Given the description of an element on the screen output the (x, y) to click on. 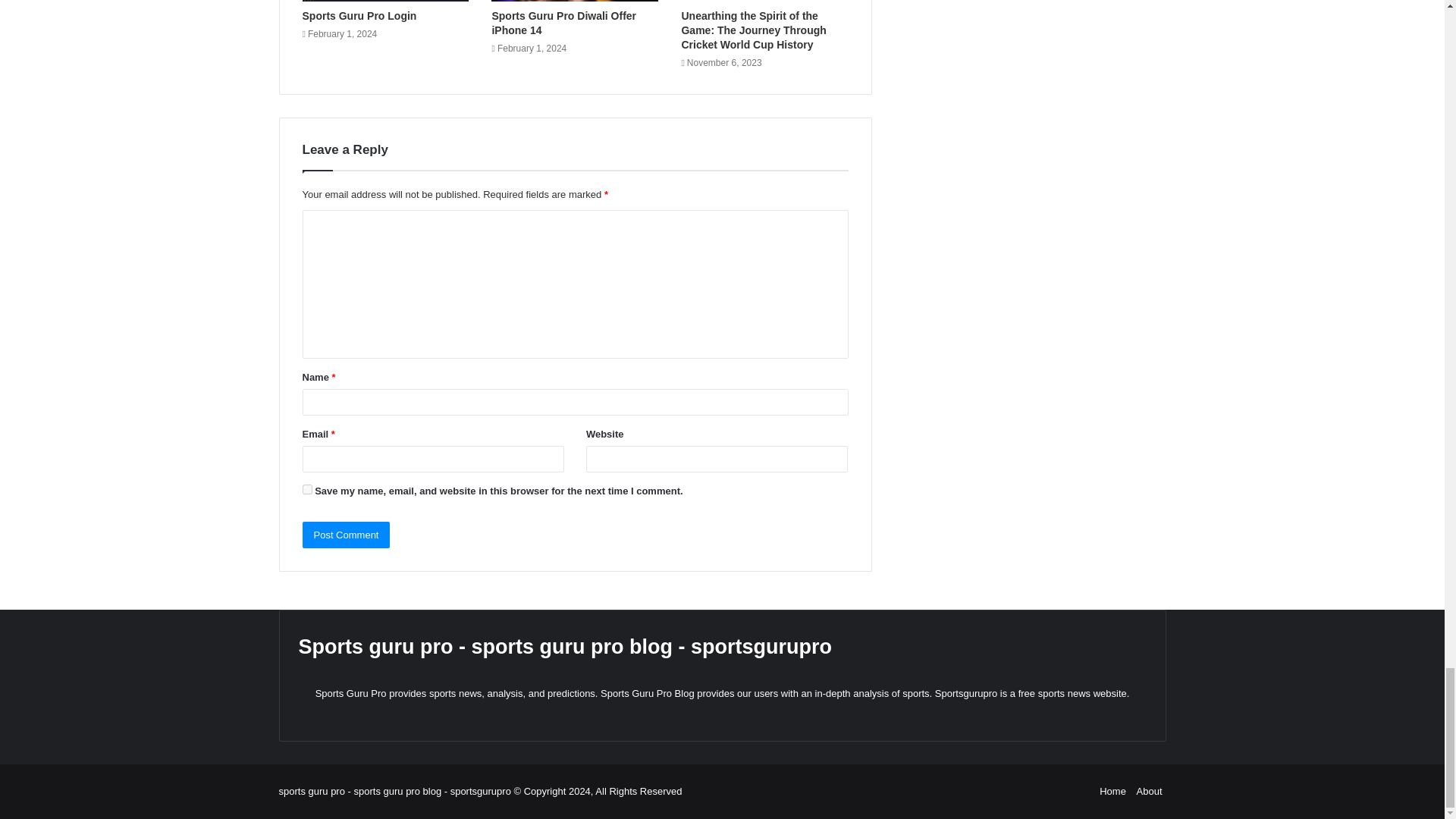
yes (306, 489)
Post Comment (345, 534)
